Given the description of an element on the screen output the (x, y) to click on. 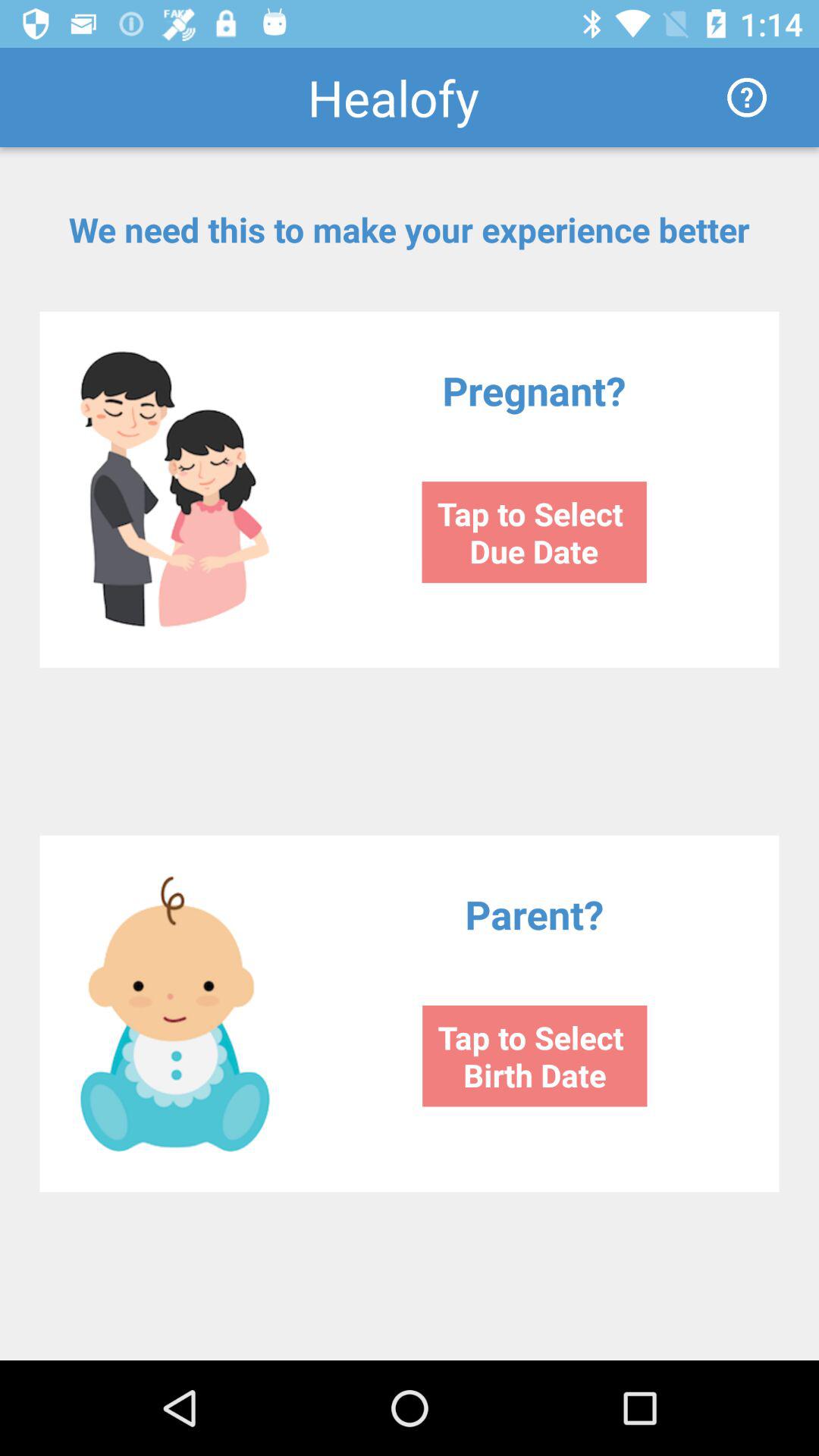
tap the icon next to the healofy item (746, 97)
